Given the description of an element on the screen output the (x, y) to click on. 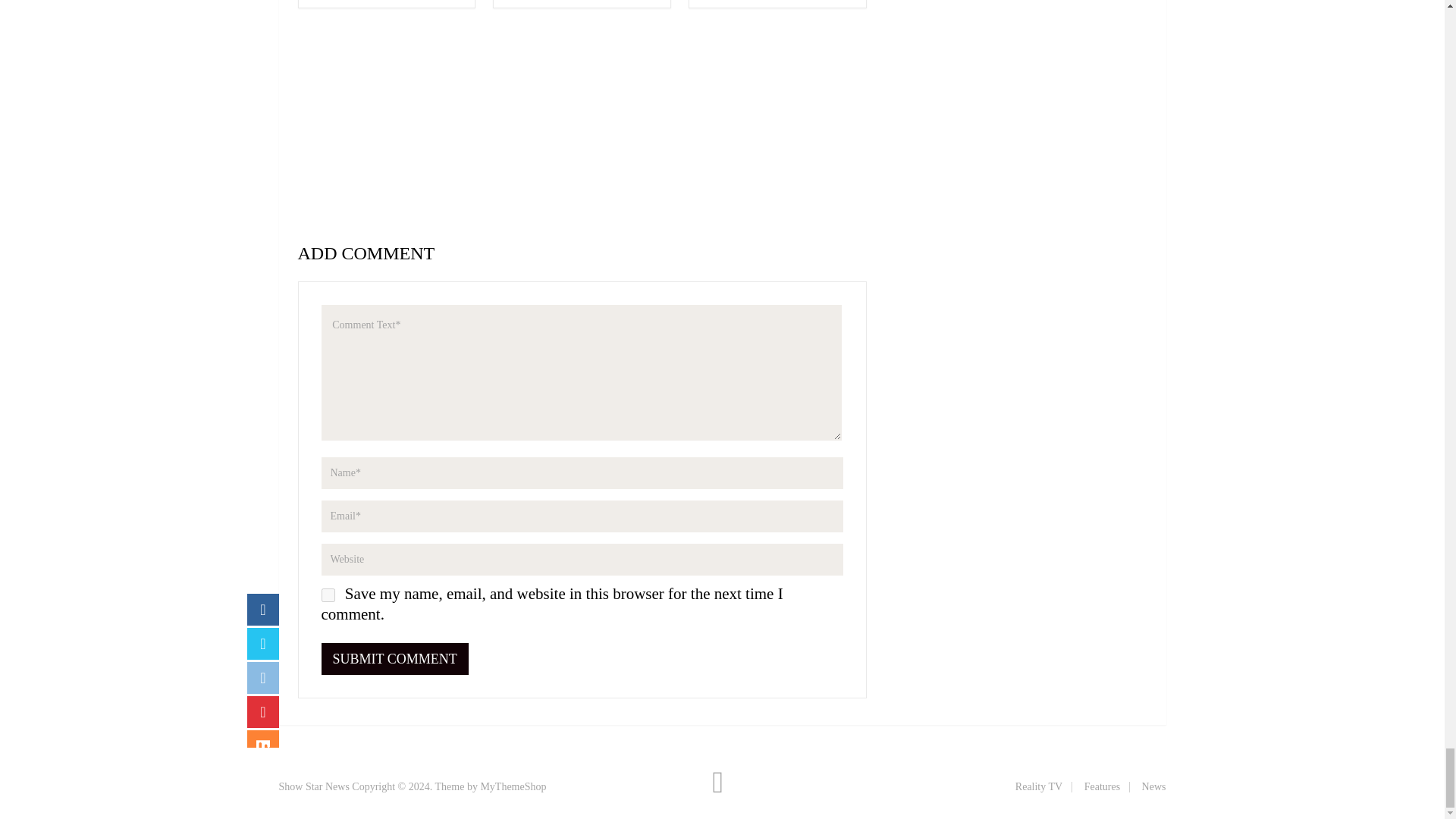
Submit Comment (394, 658)
yes (327, 594)
